Given the description of an element on the screen output the (x, y) to click on. 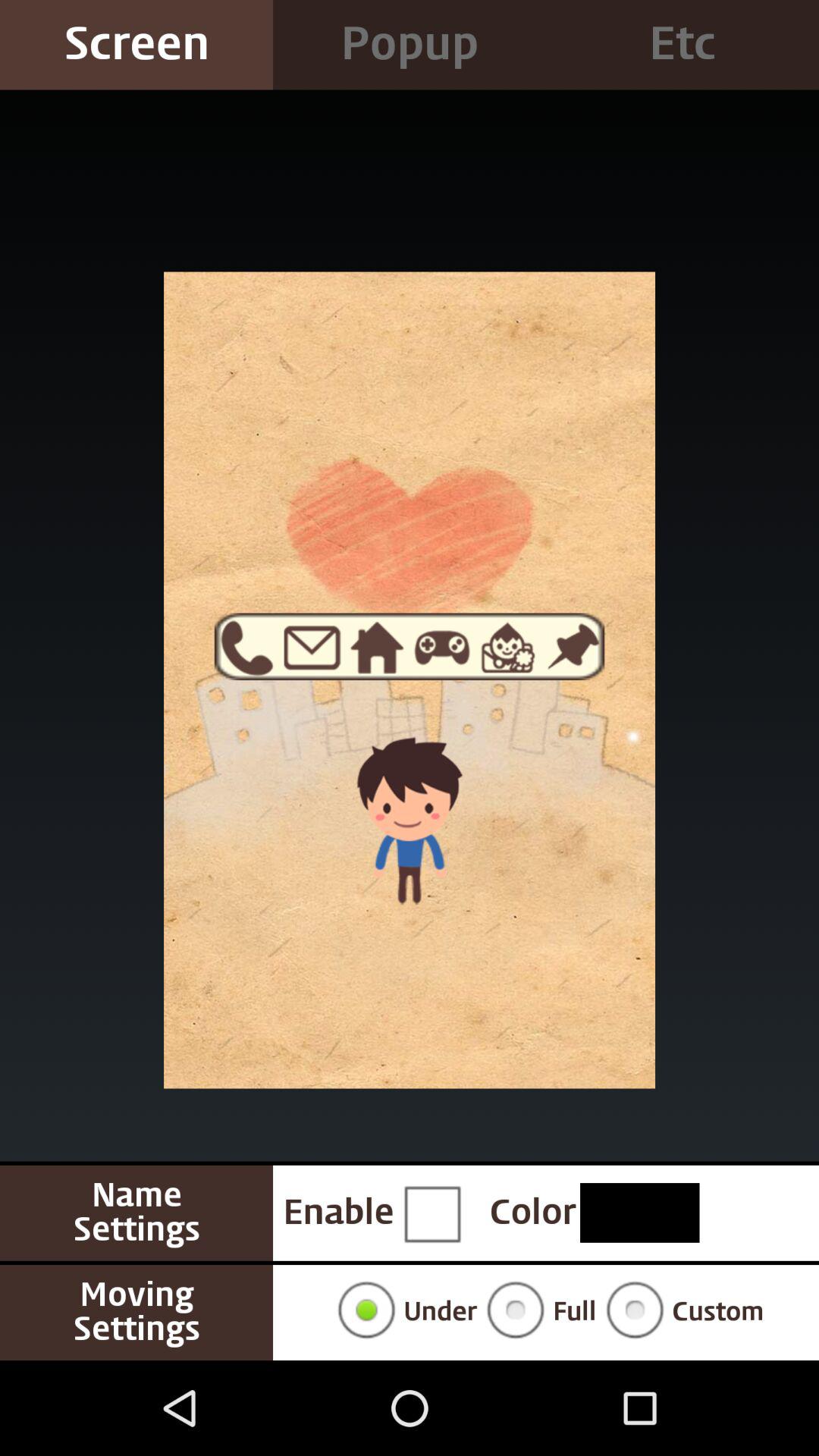
adjust color (639, 1212)
